Given the description of an element on the screen output the (x, y) to click on. 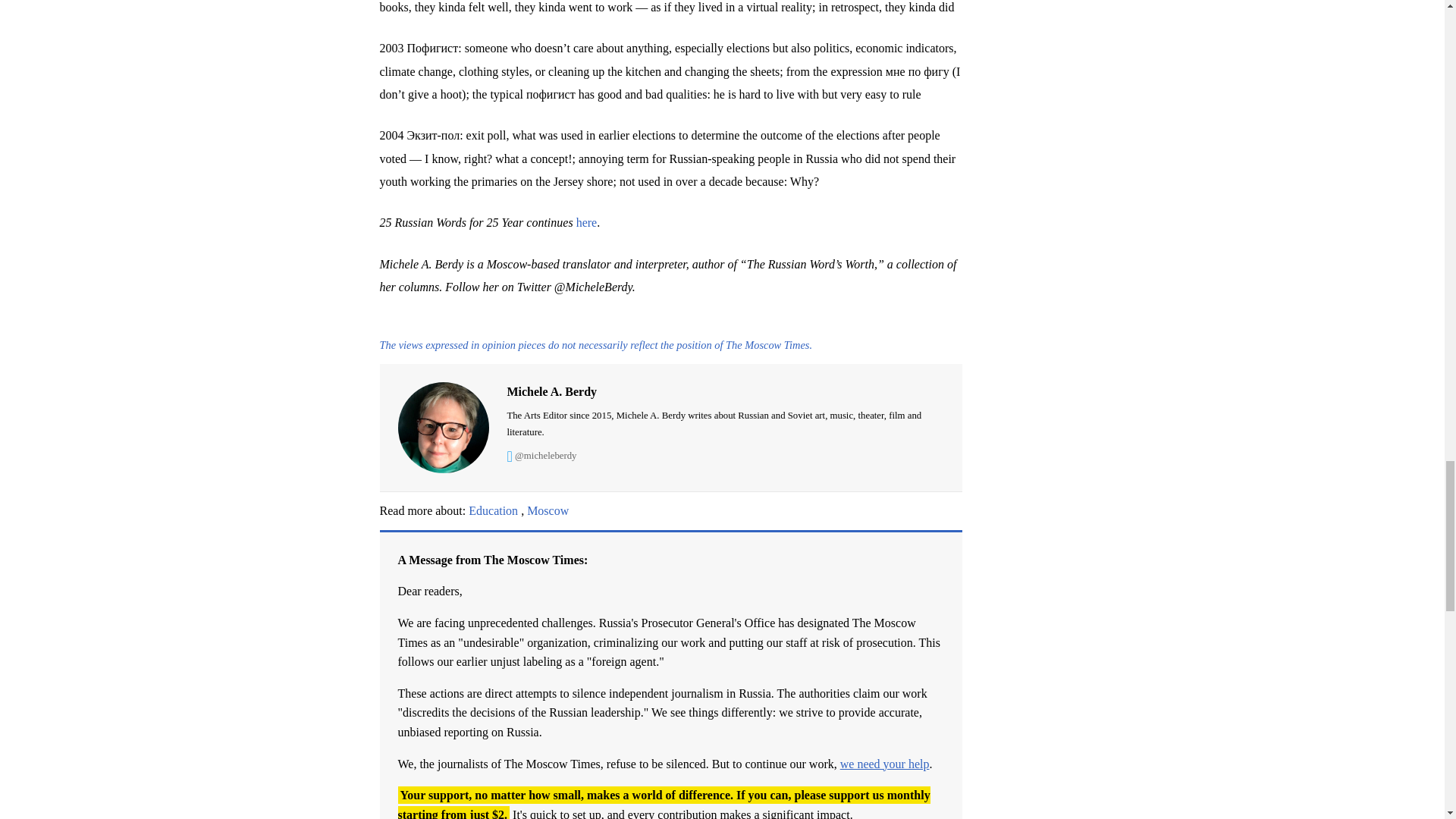
Michele A. Berdy (724, 411)
